Given the description of an element on the screen output the (x, y) to click on. 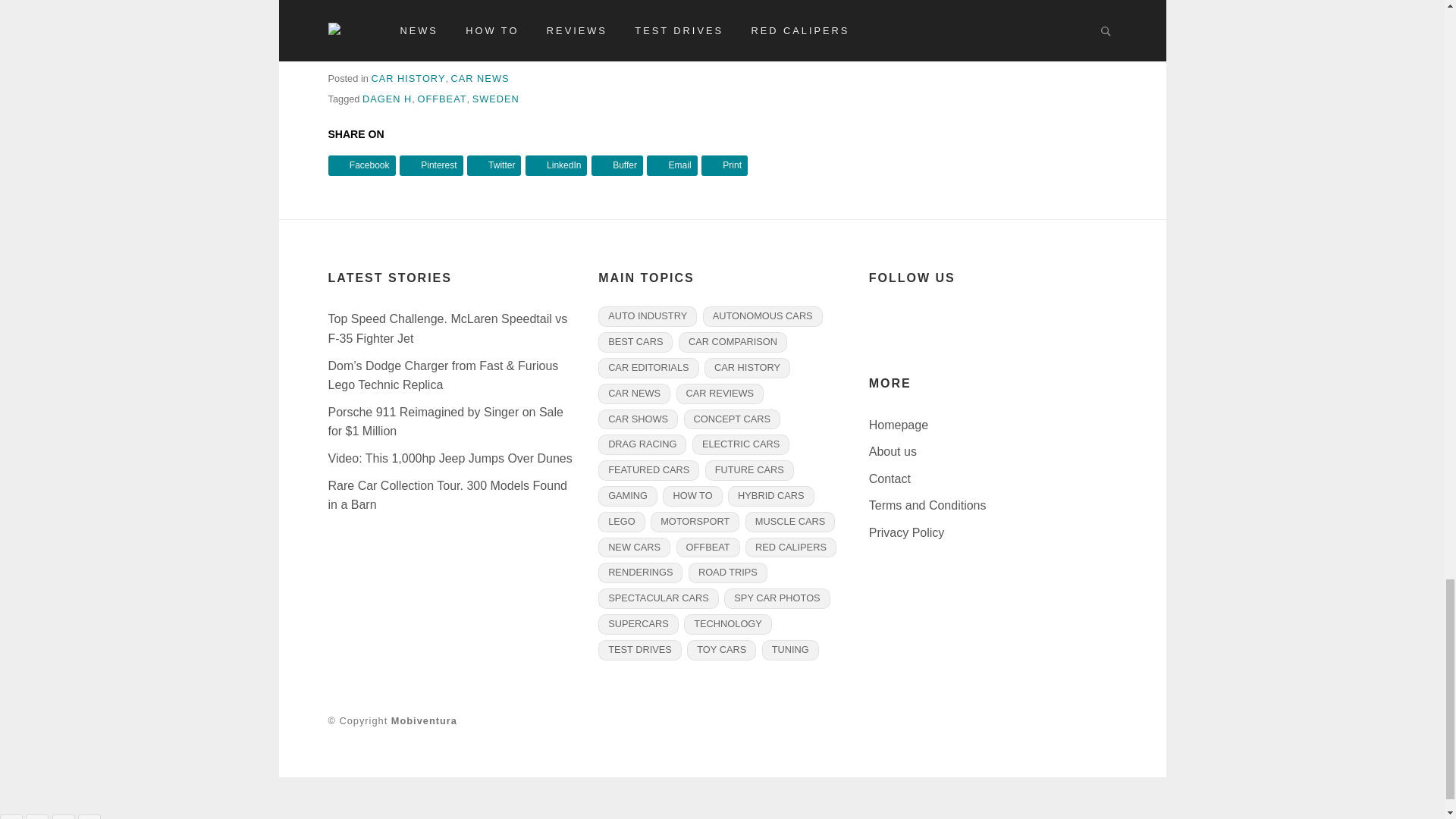
Our Red Calipers section (490, 30)
Email (671, 165)
OFFBEAT (440, 98)
DAGEN H (387, 98)
Pinterest (430, 165)
LinkedIn (556, 165)
CAR HISTORY (408, 78)
SWEDEN (495, 98)
Buffer (617, 165)
Twitter (494, 165)
Facebook (360, 165)
CAR NEWS (480, 78)
Print (724, 165)
